Given the description of an element on the screen output the (x, y) to click on. 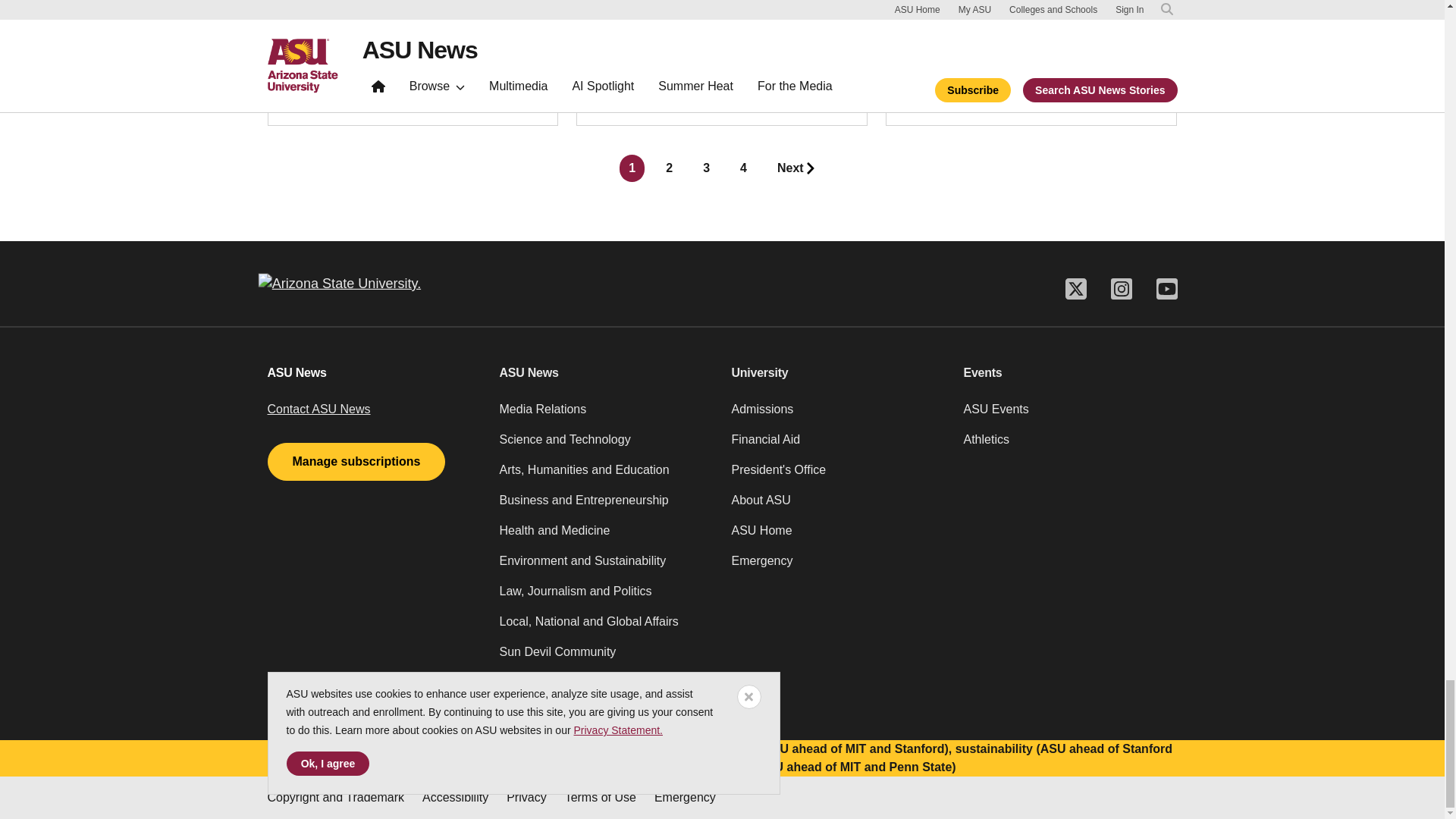
Go to page 3 (706, 167)
Go to page 4 (742, 167)
Go to last page (796, 167)
Go to page 2 (668, 167)
Current page (632, 167)
